Given the description of an element on the screen output the (x, y) to click on. 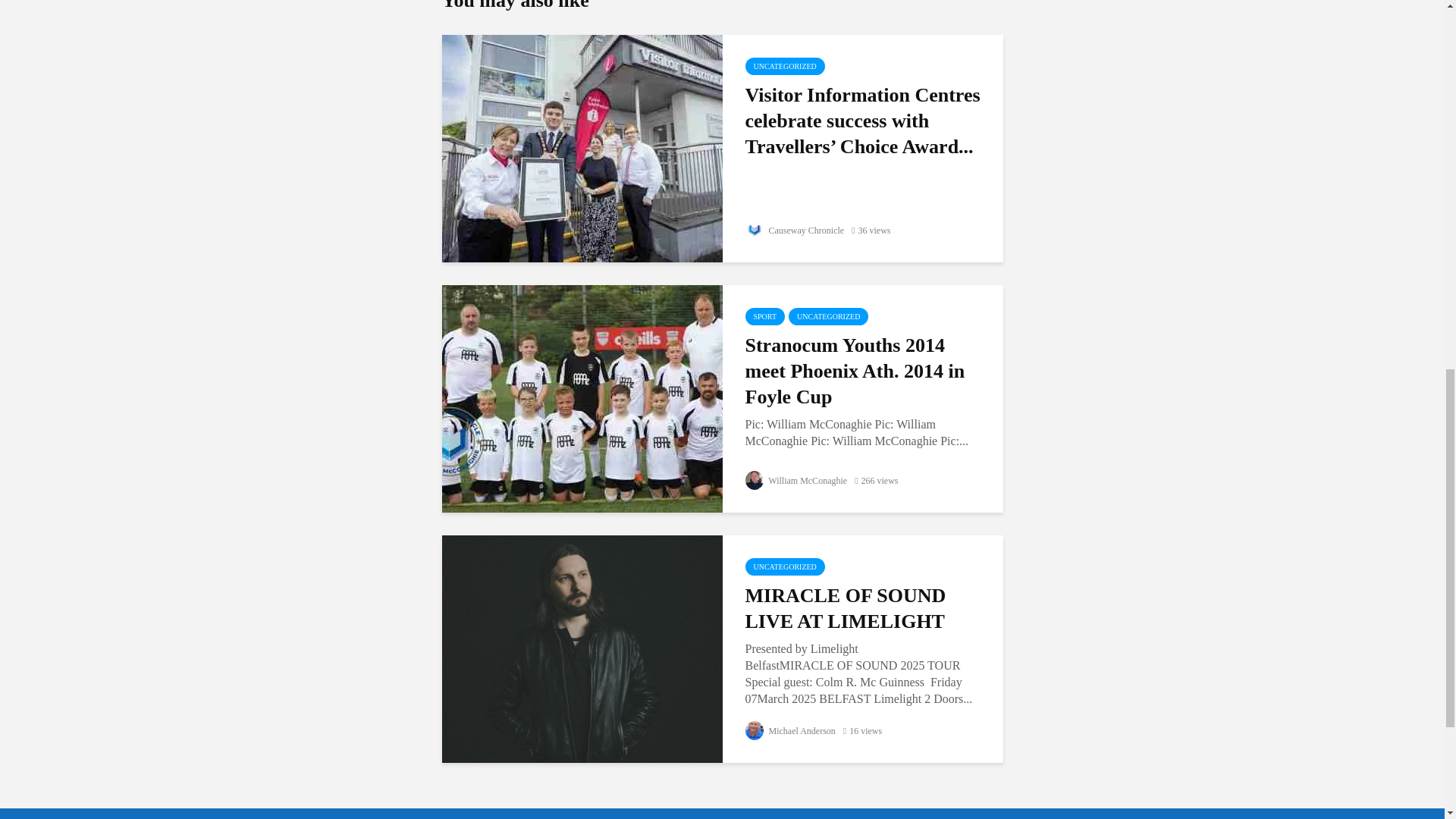
SPORT (764, 316)
MIRACLE OF SOUND LIVE AT LIMELIGHT (864, 608)
William McConaghie (795, 480)
UNCATEGORIZED (784, 566)
Stranocum Youths 2014 meet Phoenix Ath. 2014 in Foyle Cup (581, 397)
UNCATEGORIZED (828, 316)
Michael Anderson (789, 730)
Stranocum Youths 2014 meet Phoenix Ath. 2014 in Foyle Cup (864, 371)
MIRACLE OF SOUND LIVE AT LIMELIGHT (581, 647)
Causeway Chronicle (794, 230)
UNCATEGORIZED (784, 66)
